Given the description of an element on the screen output the (x, y) to click on. 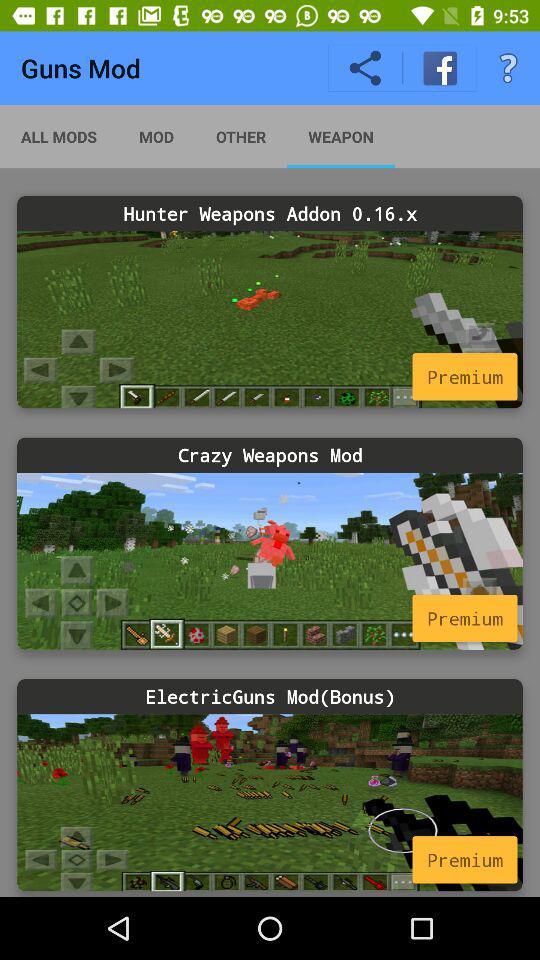
choose app next to the mod (59, 136)
